Given the description of an element on the screen output the (x, y) to click on. 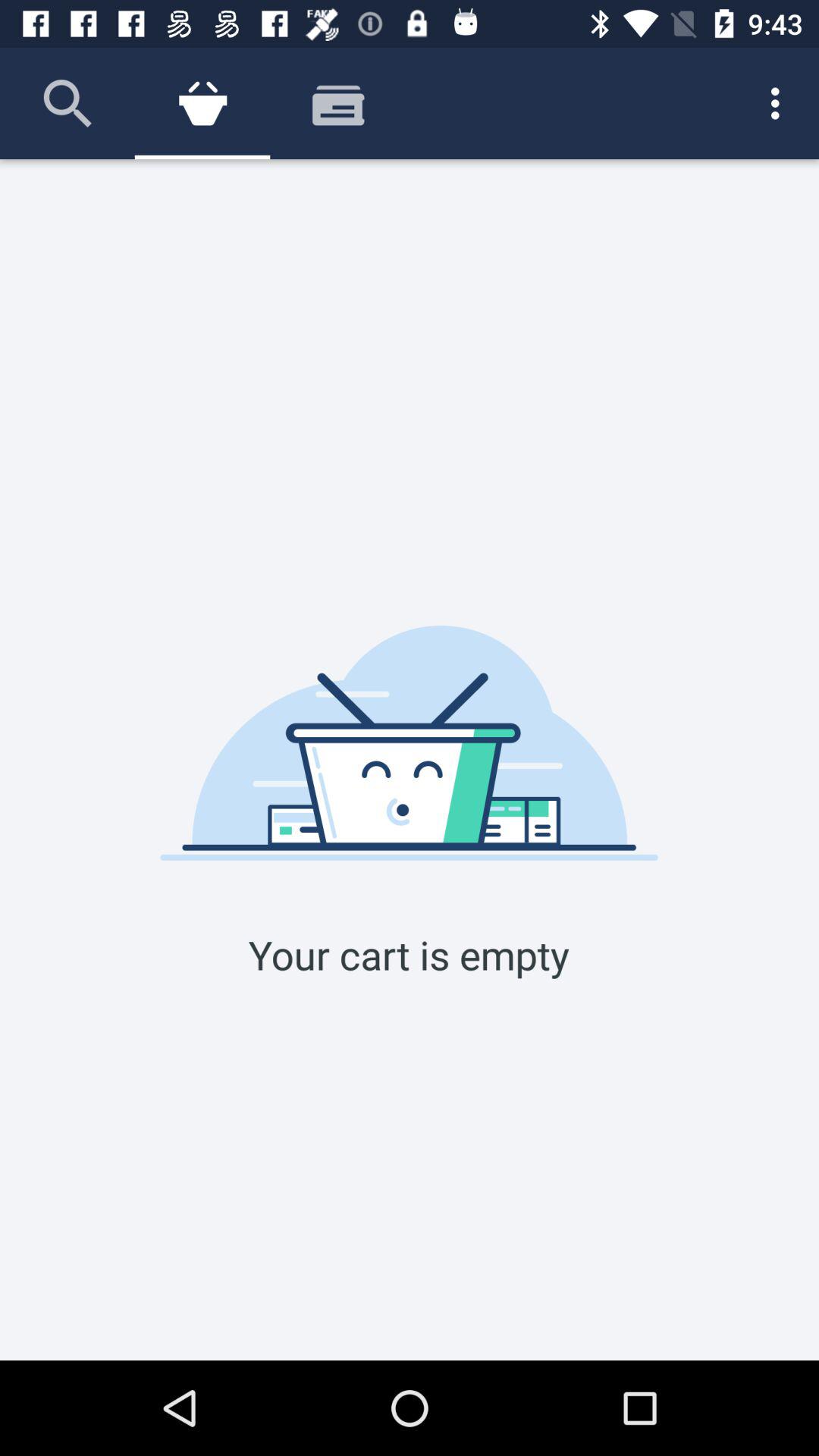
open the icon at the top right corner (779, 103)
